Given the description of an element on the screen output the (x, y) to click on. 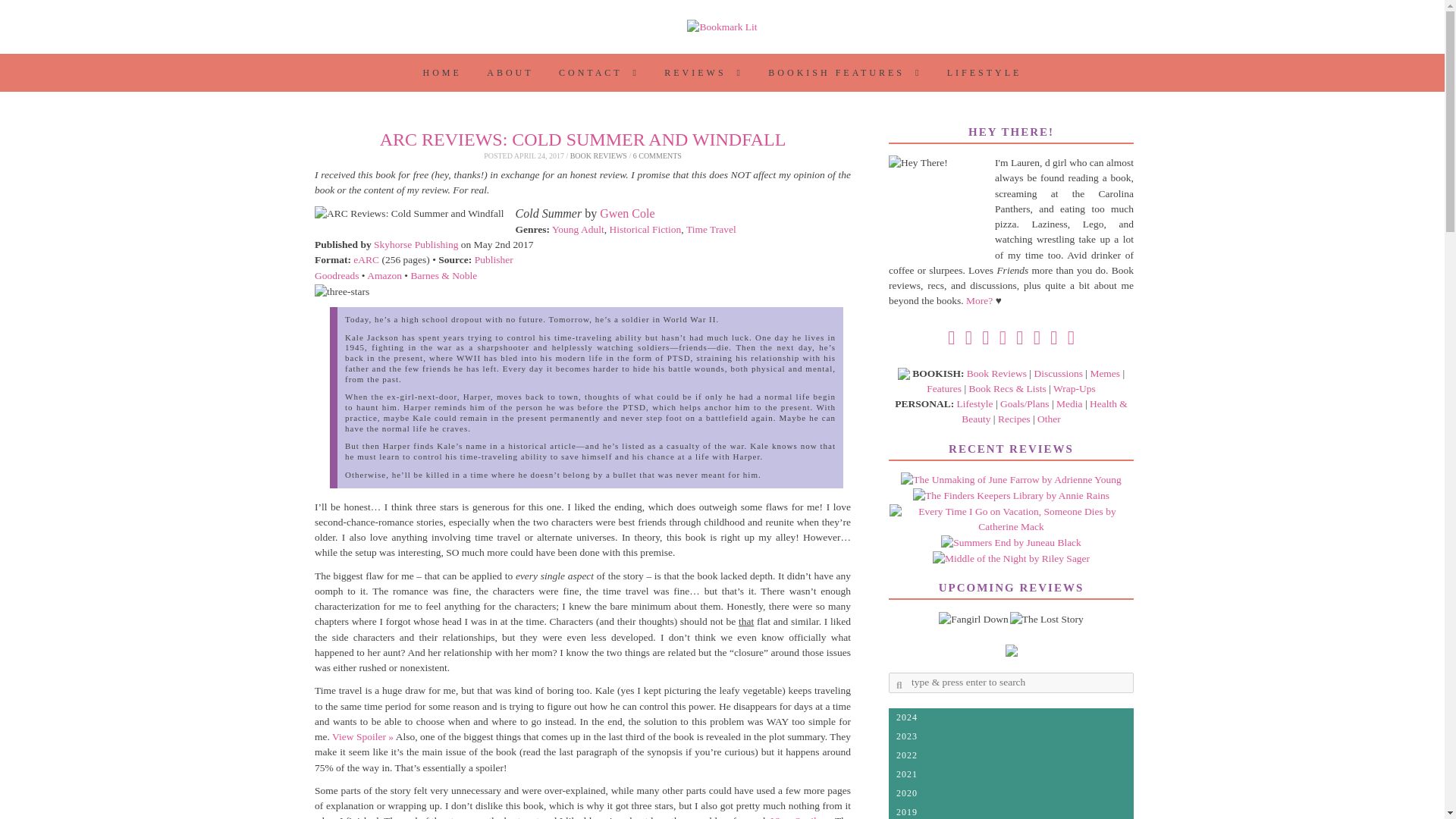
ARC Reviews: Cold Summer and Windfall (408, 213)
Goodreads (336, 275)
Publisher (493, 259)
Young Adult (577, 229)
CONTACT   (598, 72)
Historical Fiction (644, 229)
View all posts in Book Reviews (598, 155)
ABOUT (510, 72)
HOME (442, 72)
Gwen Cole (626, 213)
BOOK REVIEWS (598, 155)
REVIEWS   (703, 72)
LIFESTYLE (984, 72)
Amazon (385, 275)
eARC (365, 259)
